Given the description of an element on the screen output the (x, y) to click on. 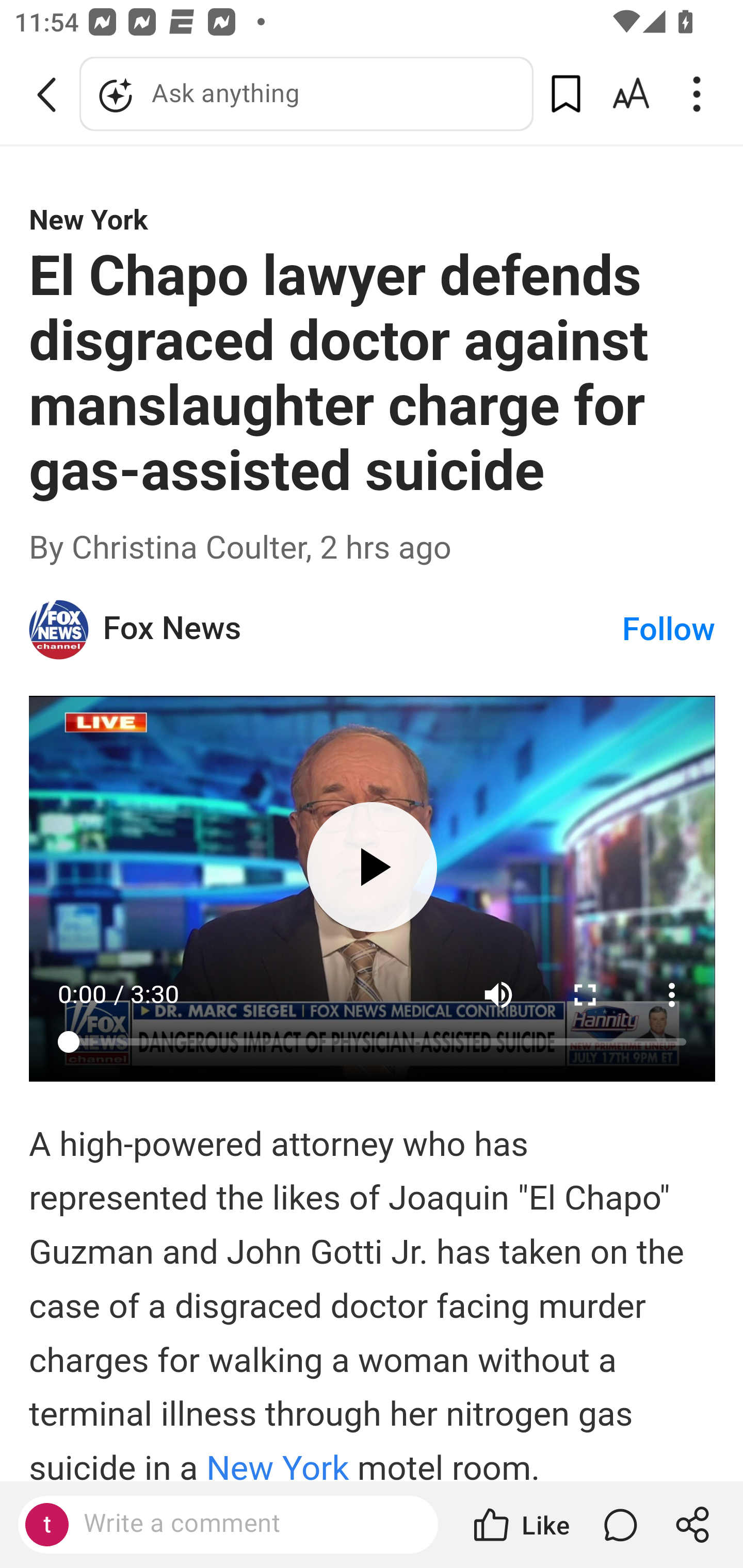
Ask anything (306, 93)
Fox (59, 629)
Fox News (361, 628)
Follow (668, 628)
play (372, 866)
mute (497, 994)
enter full screen (585, 994)
show more media controls (672, 994)
New York  (281, 1465)
Like (519, 1524)
Write a comment (245, 1523)
